Given the description of an element on the screen output the (x, y) to click on. 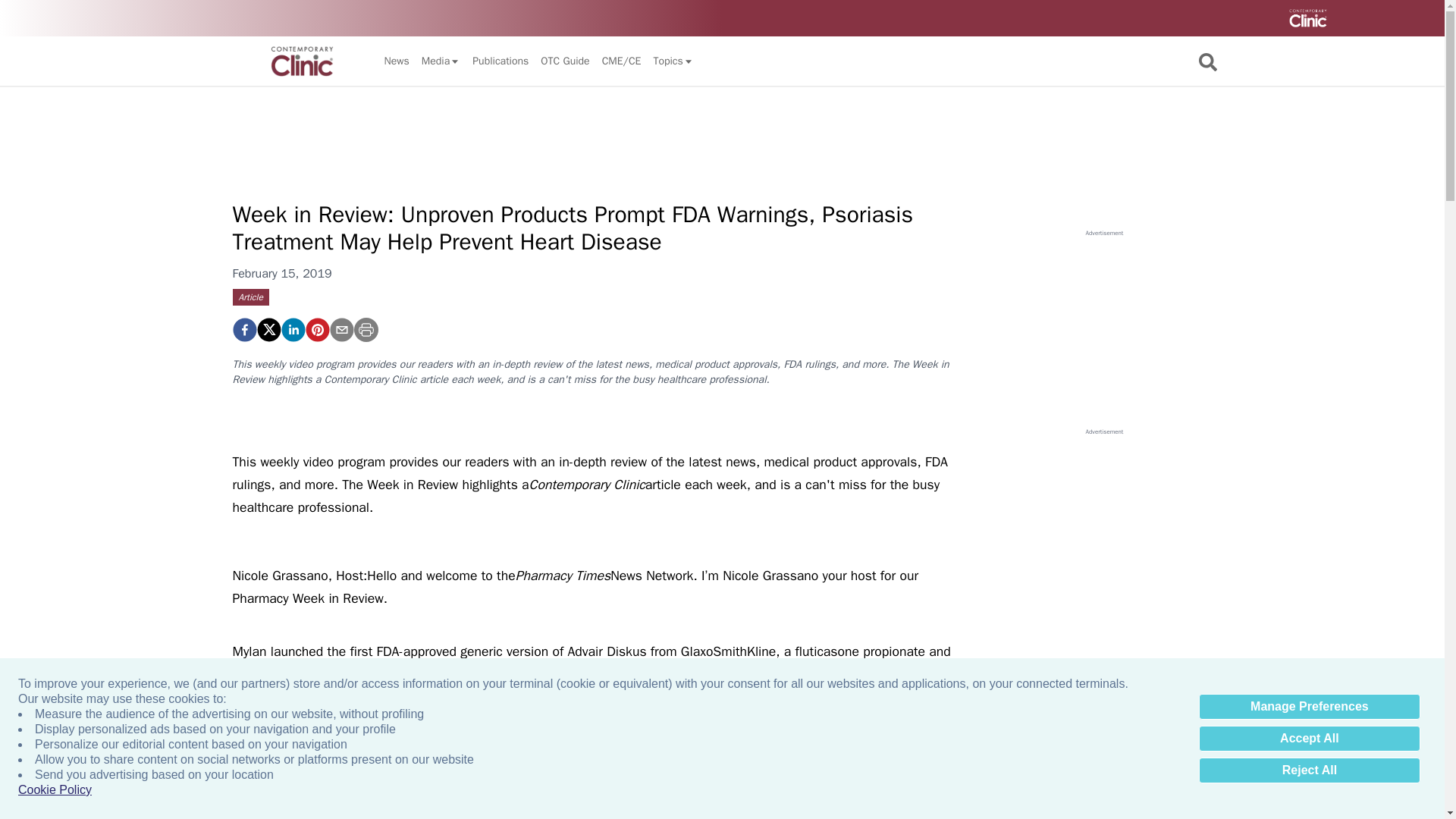
News (396, 60)
Reject All (1309, 769)
Manage Preferences (1309, 706)
Cookie Policy (54, 789)
Accept All (1309, 738)
OTC Guide (564, 60)
Publications (499, 60)
